Given the description of an element on the screen output the (x, y) to click on. 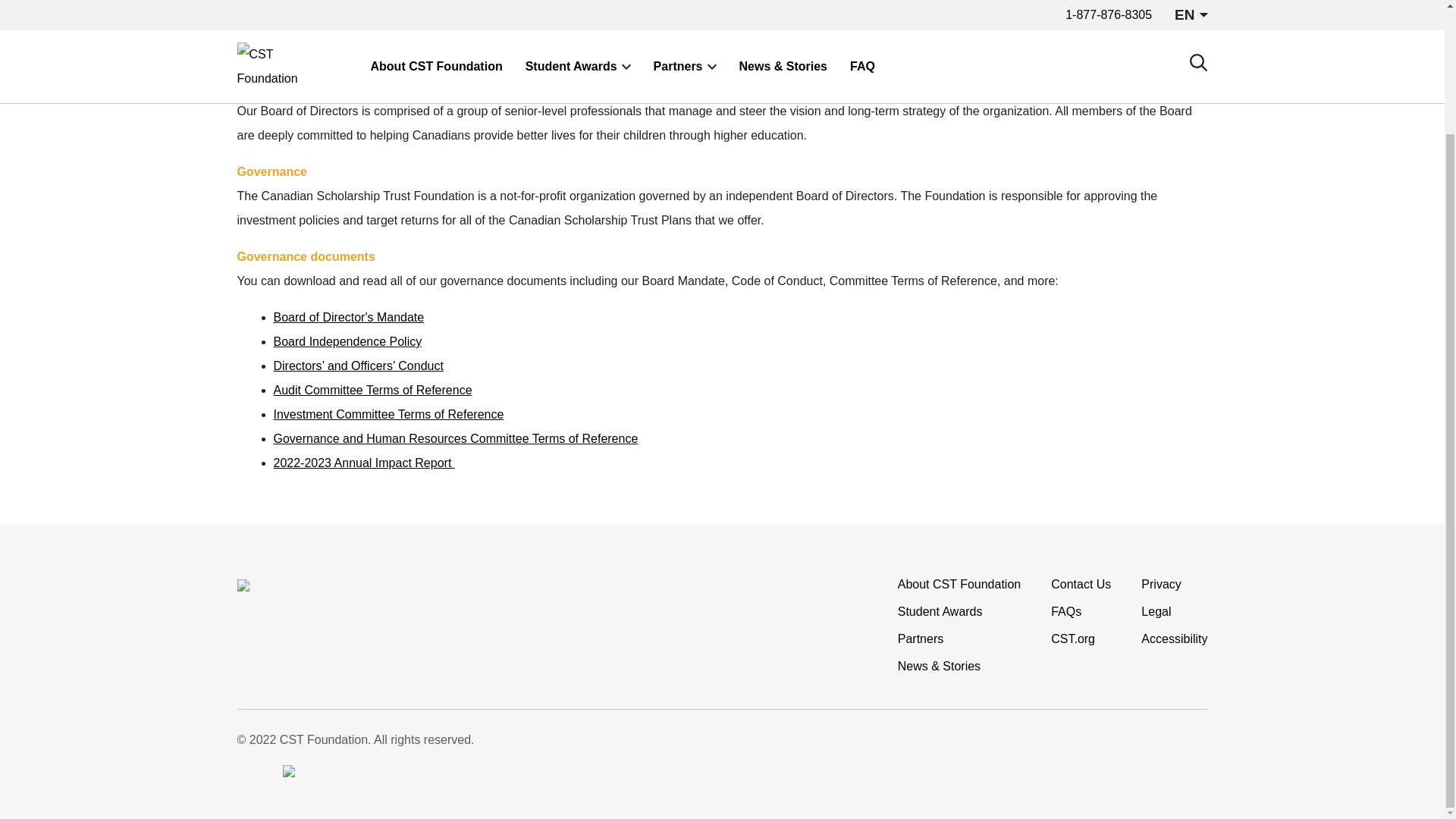
Legal (1155, 611)
Board of Director's Mandate (348, 317)
Governance and Human Resources Committee Terms of Reference (455, 438)
Audit Committee Terms of Reference (372, 390)
Student Awards (940, 611)
CST.org (1072, 639)
Privacy (1160, 584)
Contact Us (1080, 584)
Investment Committee Terms of Reference (388, 413)
About CST Foundation (959, 584)
Board Independence Policy (347, 341)
Accessibility (1174, 639)
Partners (920, 639)
FAQs (1066, 611)
2022-2023 Annual Impact Report  (363, 462)
